Given the description of an element on the screen output the (x, y) to click on. 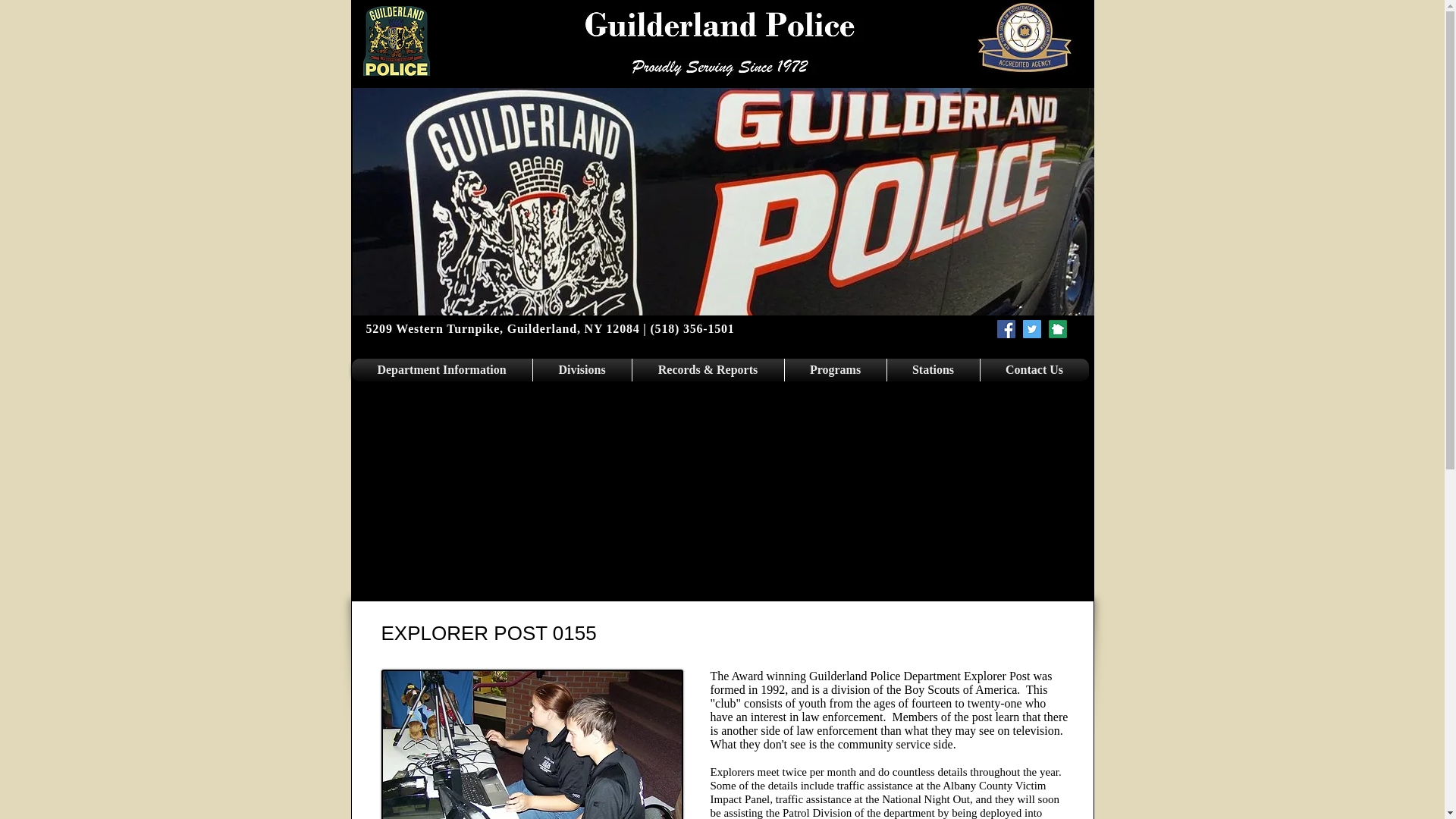
Contact Us (1034, 369)
Guilderland Police Exporers (531, 744)
gpdlogoblk1.jpg (395, 40)
Stations (932, 369)
Department Information (441, 369)
